Given the description of an element on the screen output the (x, y) to click on. 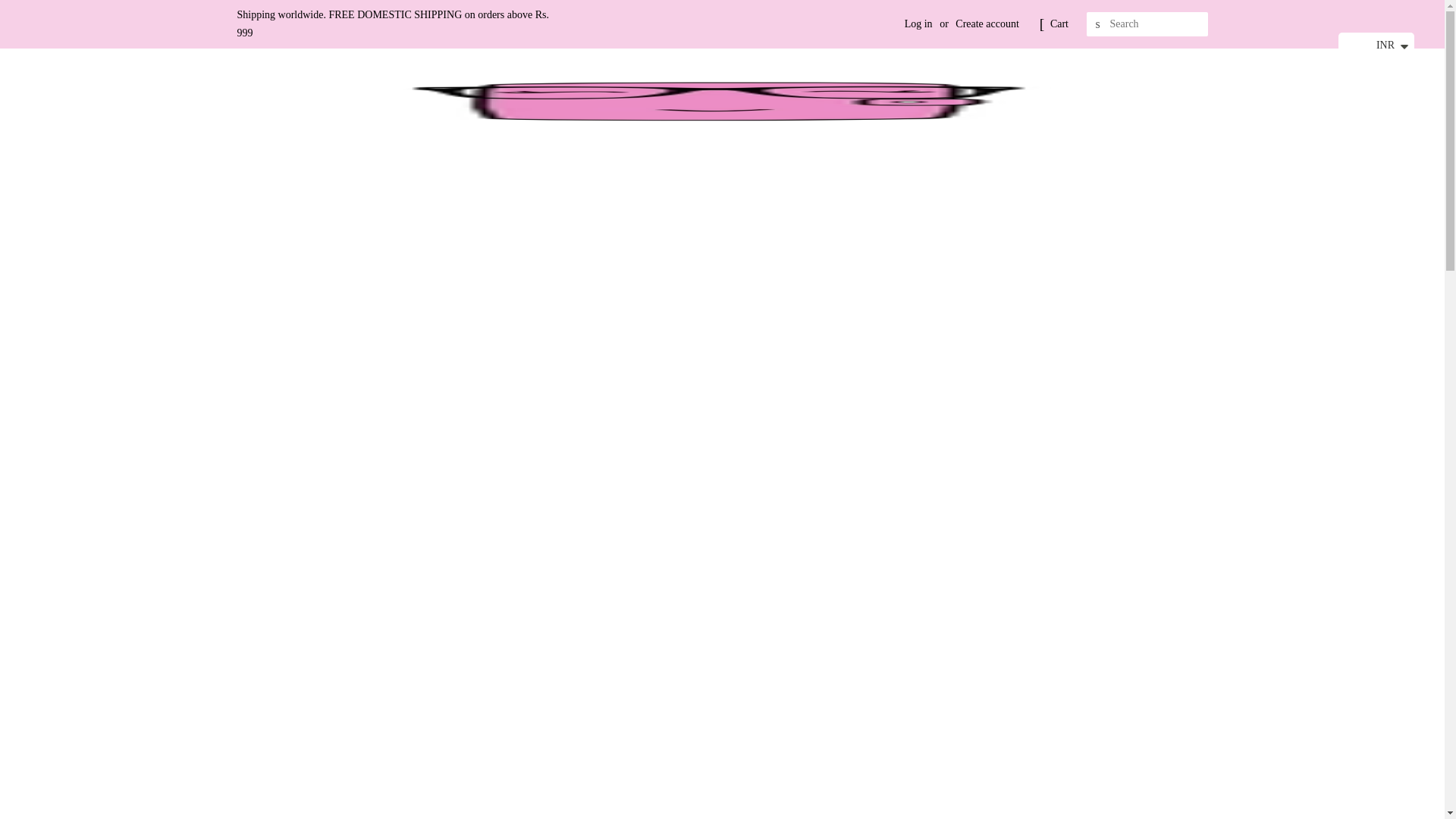
Cart (1058, 24)
SEARCH (1097, 24)
Log in (918, 23)
Create account (987, 23)
